Given the description of an element on the screen output the (x, y) to click on. 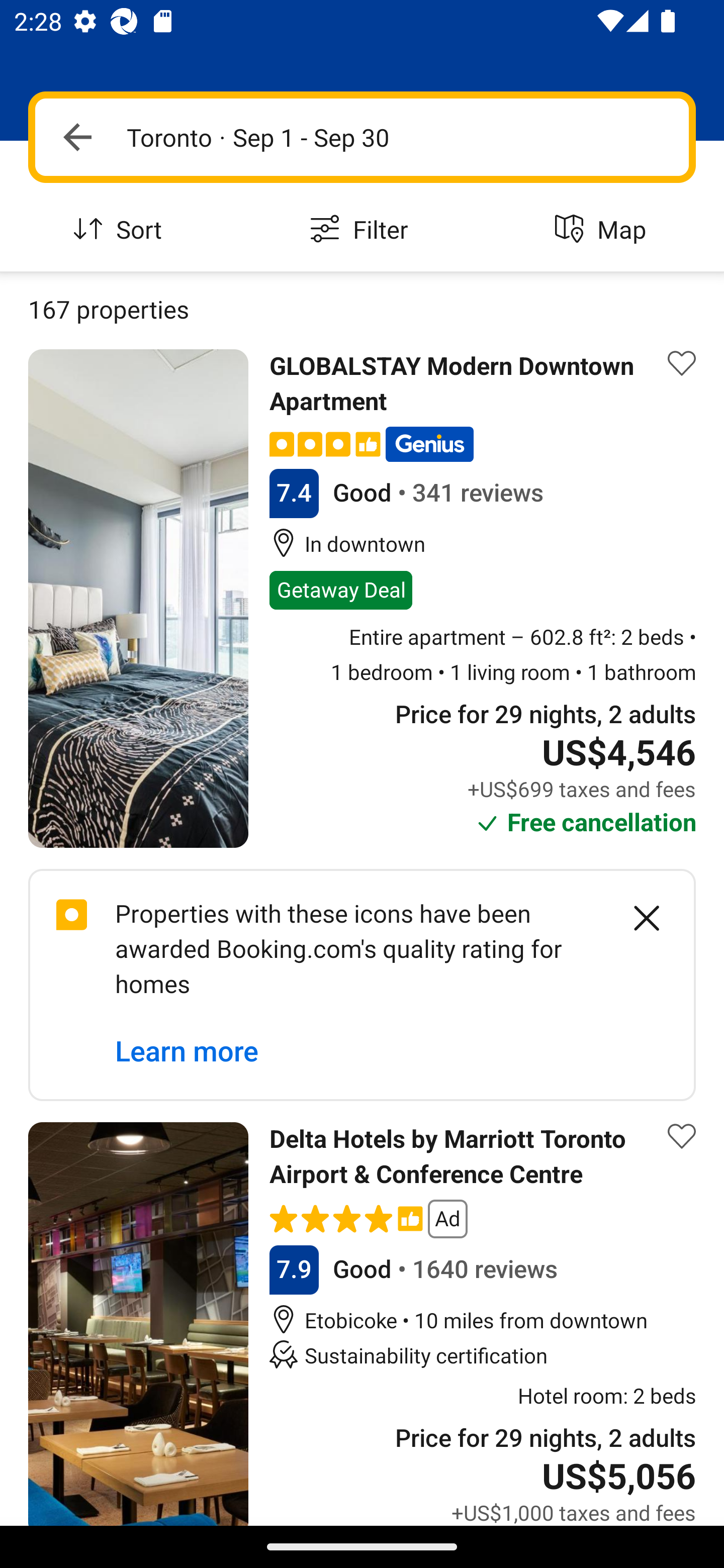
Navigate up Toronto · Sep 1 - Sep 30 (362, 136)
Navigate up (77, 136)
Sort (120, 230)
Filter (361, 230)
Map (603, 230)
Save property to list (681, 363)
Clear (635, 917)
Learn more (187, 1051)
Save property to list (681, 1136)
